Given the description of an element on the screen output the (x, y) to click on. 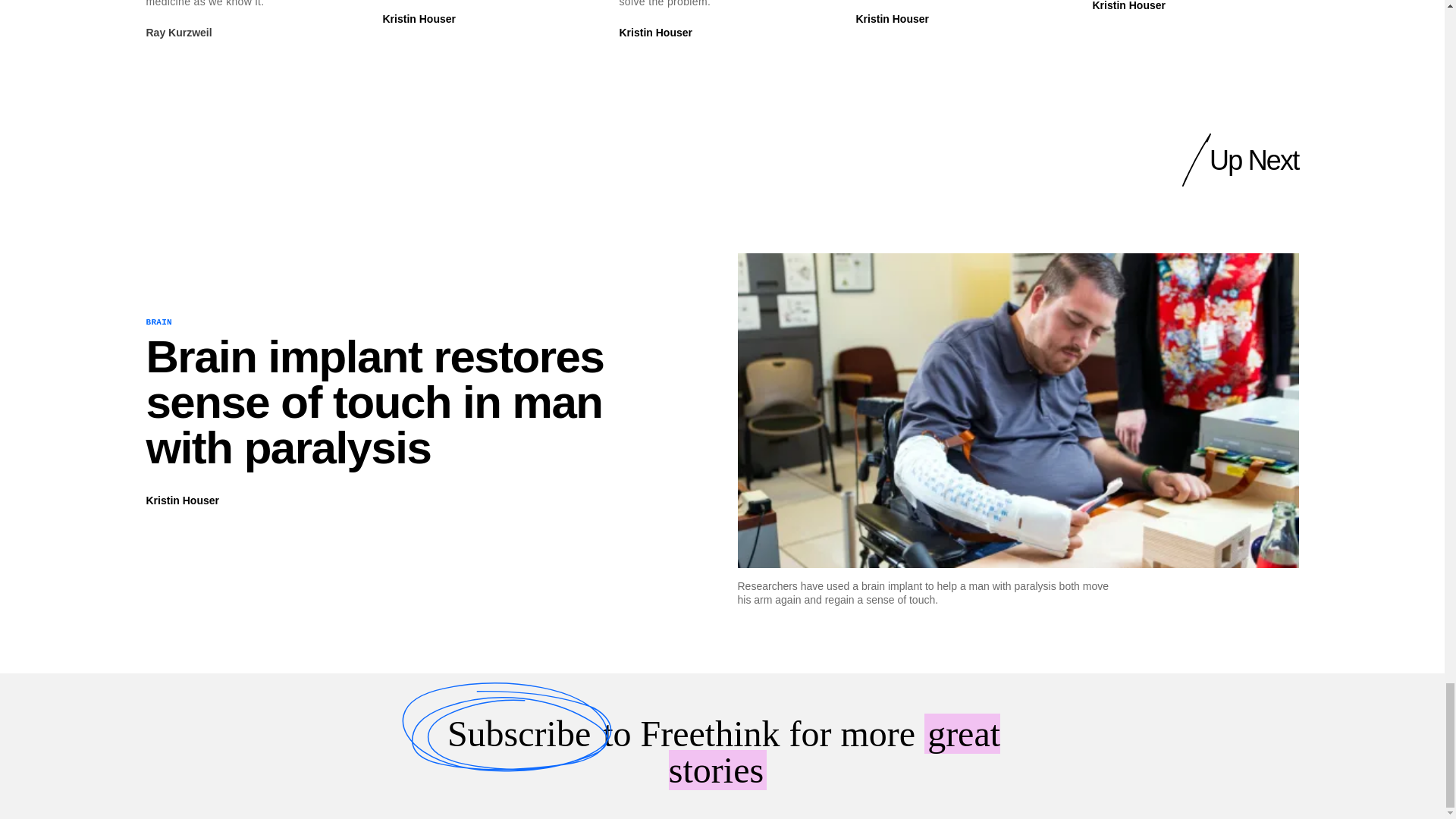
Kristin Houser (417, 19)
